Given the description of an element on the screen output the (x, y) to click on. 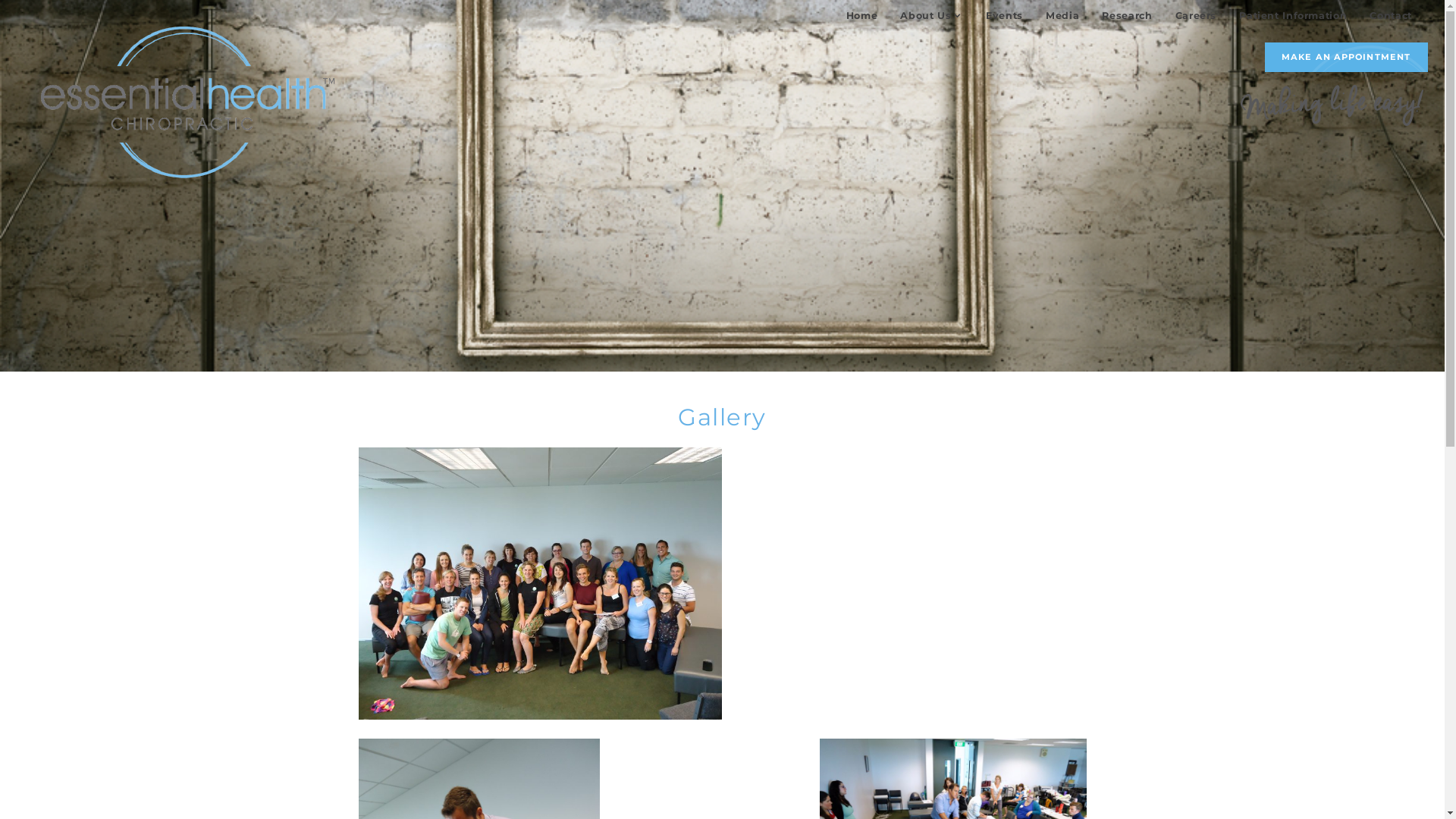
Research Element type: text (1126, 15)
Careers Element type: text (1196, 15)
MAKE AN APPOINTMENT Element type: text (1345, 57)
Patient Information Element type: text (1292, 15)
Home Element type: text (861, 15)
Events Element type: text (1004, 15)
Contact Element type: text (1390, 15)
About Us Element type: text (931, 15)
Return to homepage Element type: hover (187, 102)
Media Element type: text (1062, 15)
